Given the description of an element on the screen output the (x, y) to click on. 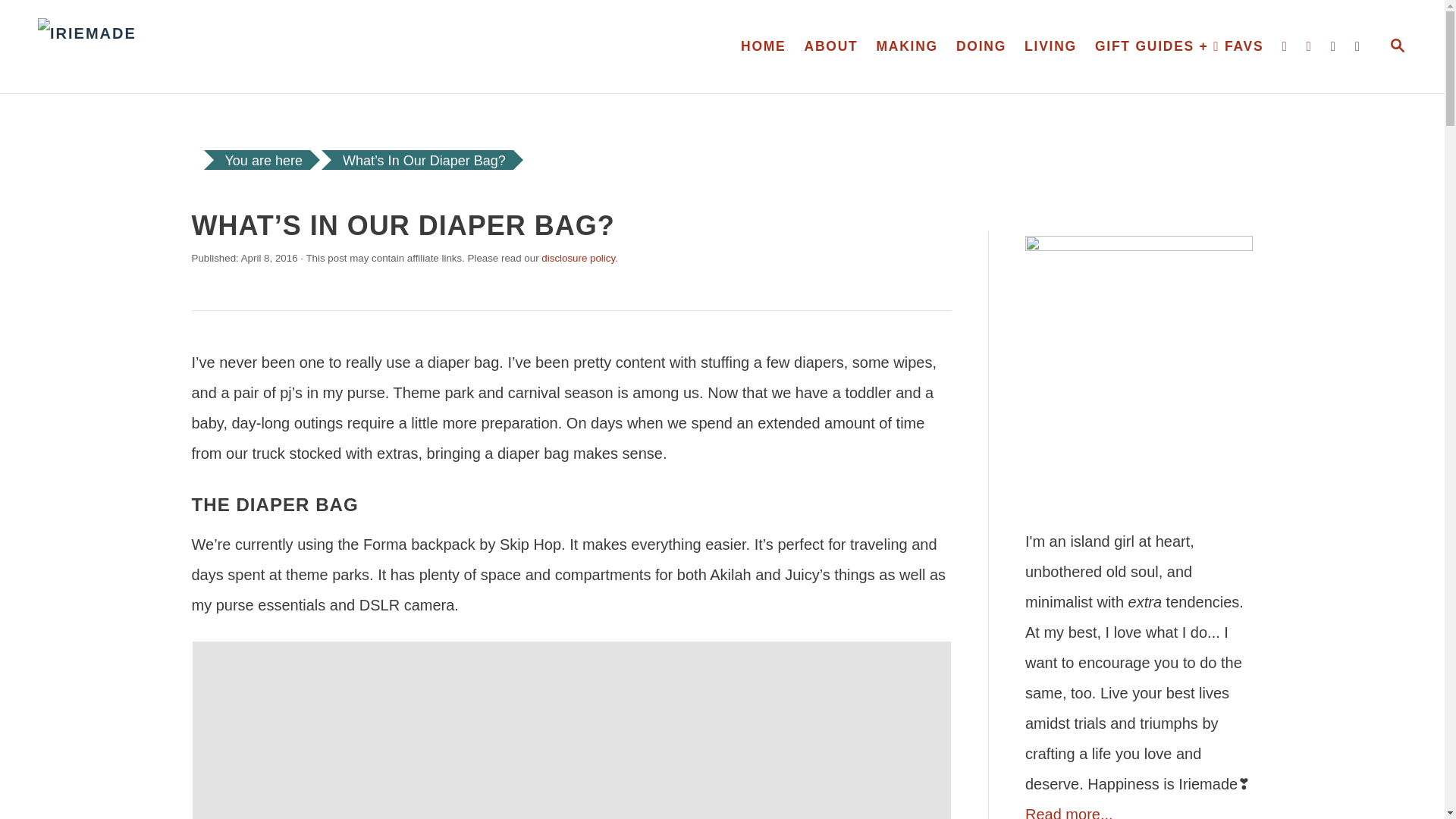
Recipes Crafts DIY (907, 46)
LIVING (1050, 46)
About Sheena Tatum (830, 46)
MAGNIFYING GLASS (1397, 45)
DOING (1397, 46)
HOME (980, 46)
MAKING (763, 46)
Doing (907, 46)
Lifestyle (980, 46)
